Given the description of an element on the screen output the (x, y) to click on. 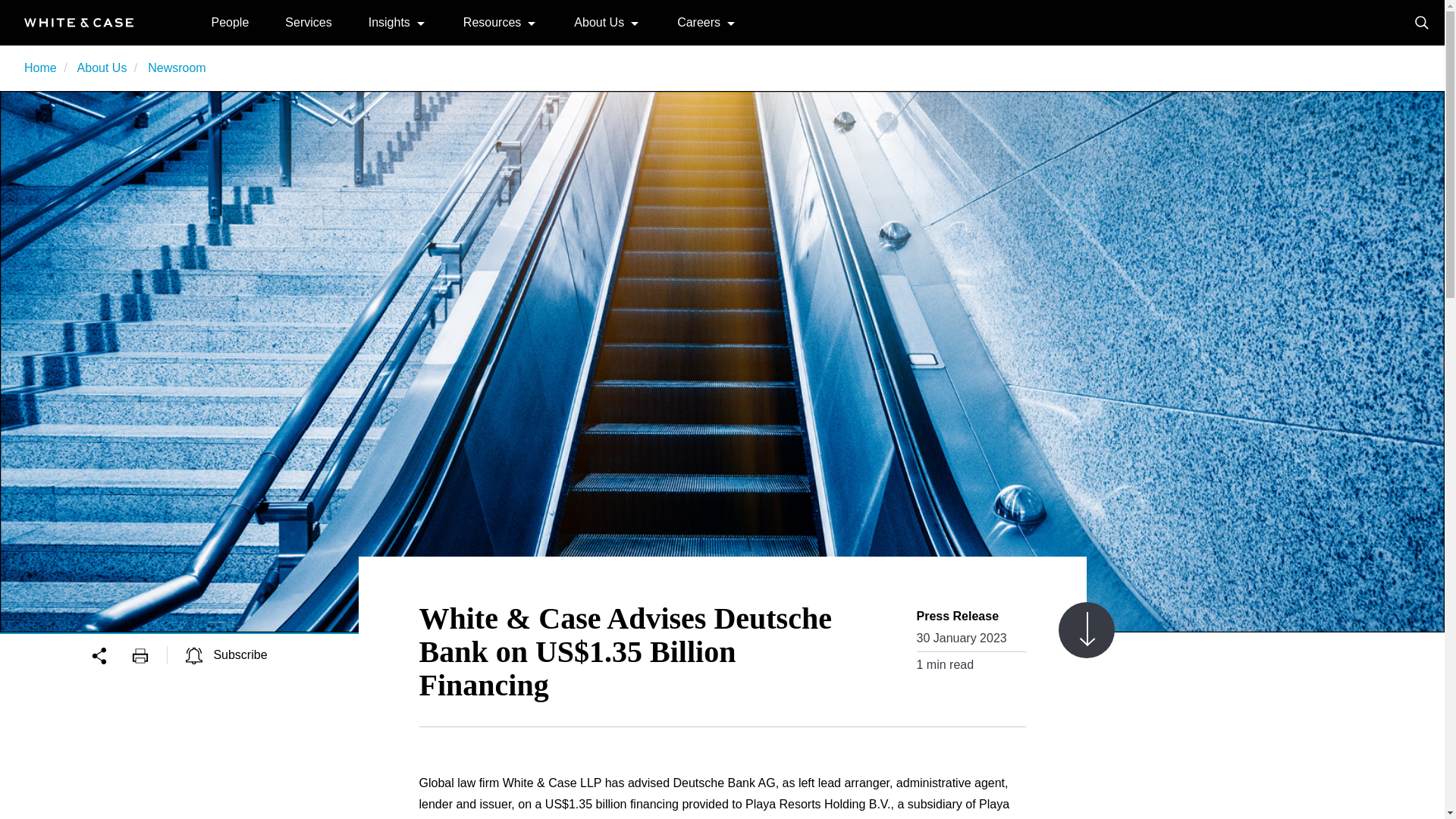
Share (111, 654)
Newsroom (176, 67)
About Us (598, 21)
People (229, 21)
Resources (492, 21)
Subscribe (226, 654)
Insights (389, 21)
About Us (102, 67)
Services (308, 21)
Print (149, 654)
